Given the description of an element on the screen output the (x, y) to click on. 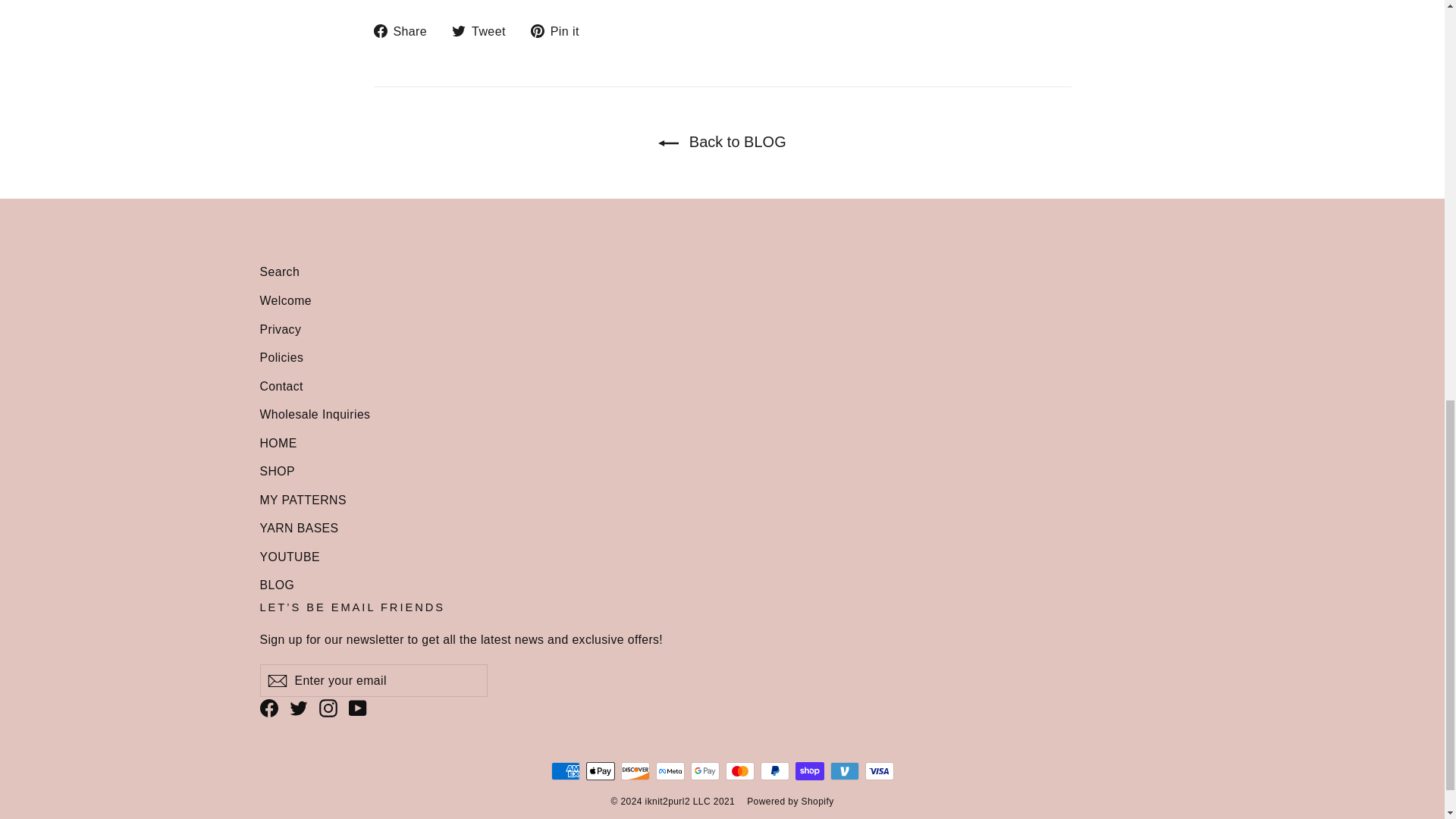
Discover (634, 771)
Google Pay (704, 771)
Tweet on Twitter (483, 31)
Meta Pay (669, 771)
iknit2purl2 on Instagram (327, 706)
Pin on Pinterest (561, 31)
PayPal (774, 771)
American Express (564, 771)
Mastercard (739, 771)
iknit2purl2 on YouTube (357, 706)
